Given the description of an element on the screen output the (x, y) to click on. 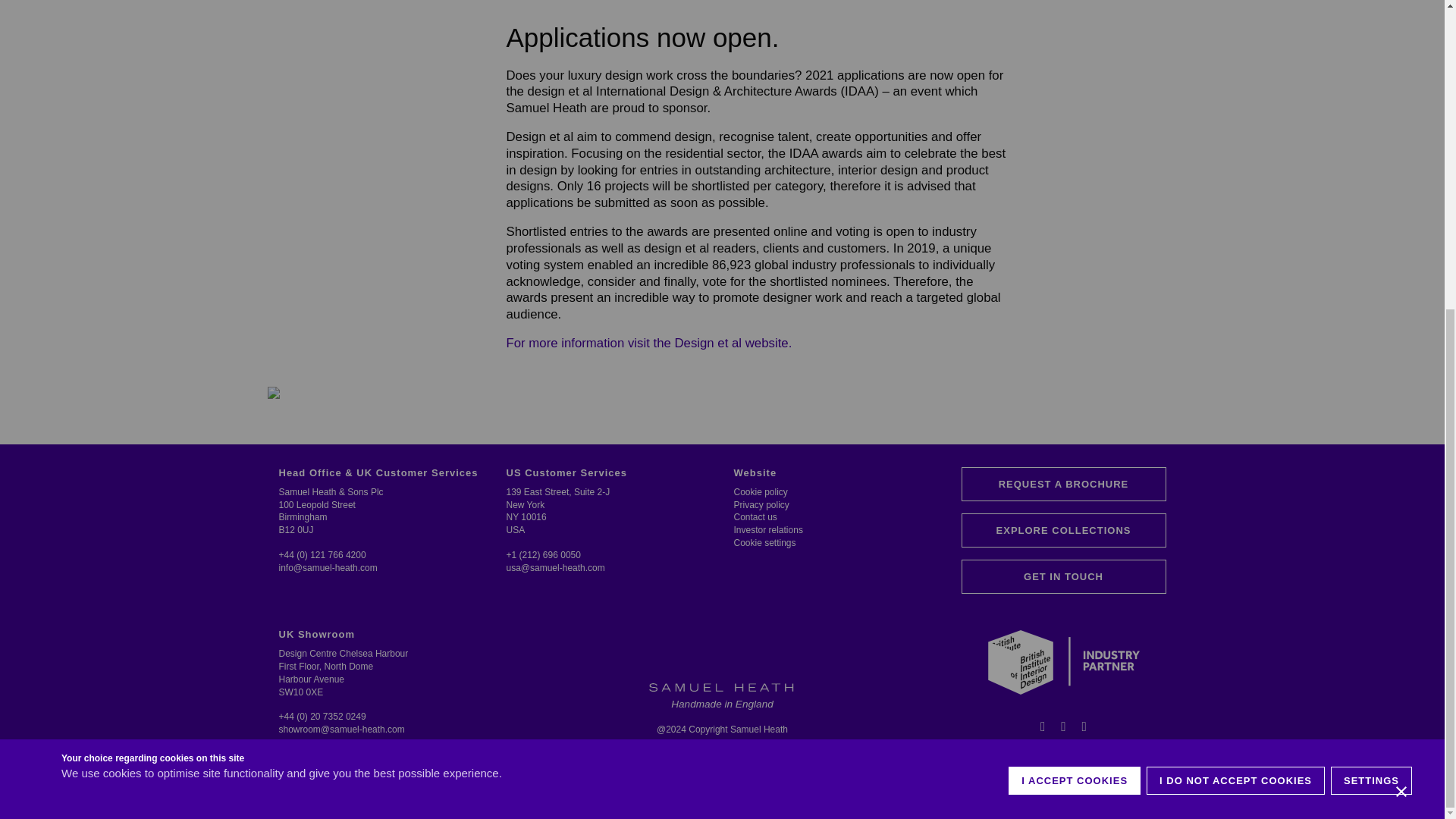
I ACCEPT COOKIES (1074, 346)
I DO NOT ACCEPT COOKIES (1235, 338)
SETTINGS (1371, 331)
